Given the description of an element on the screen output the (x, y) to click on. 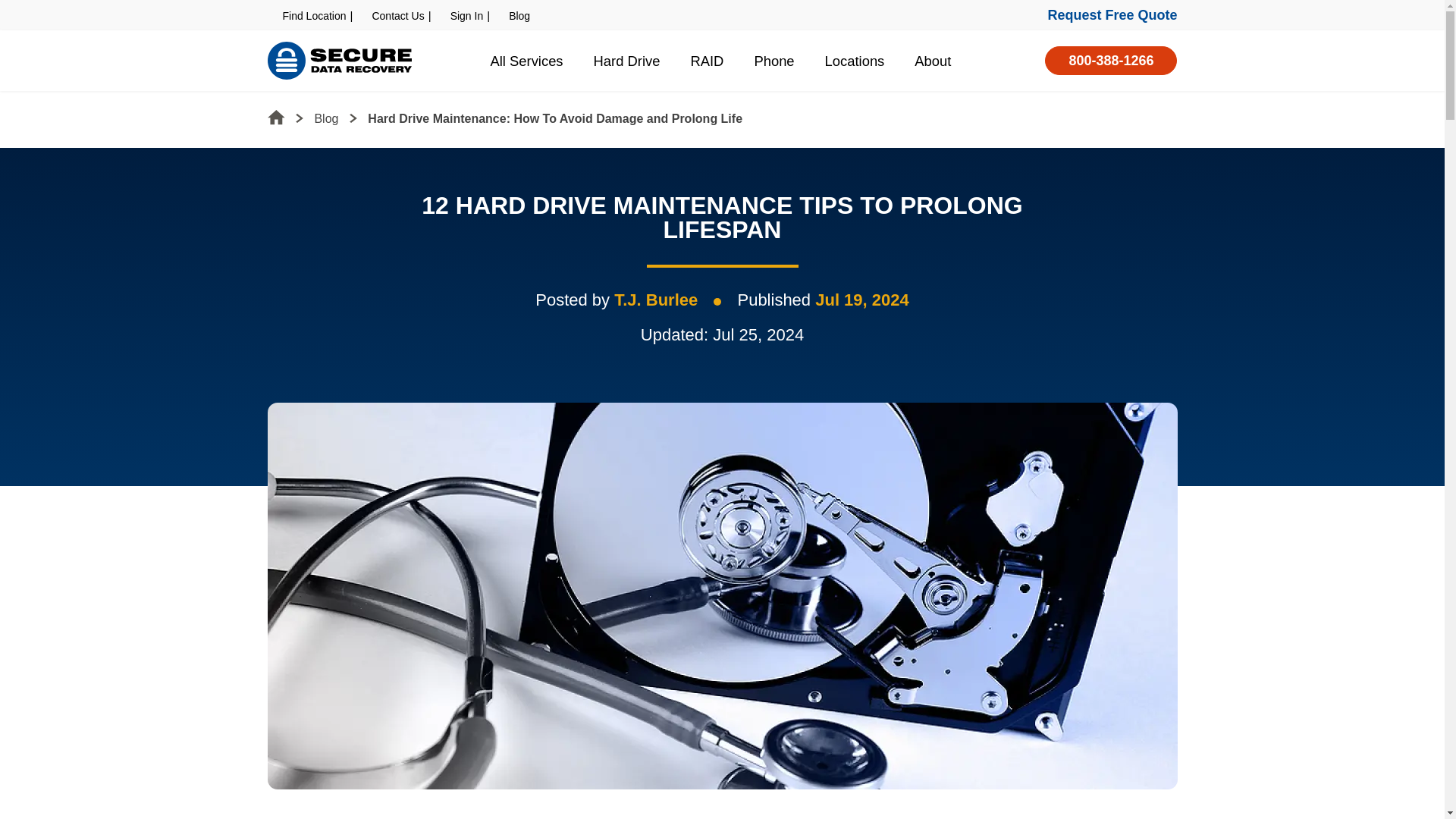
Request Free Quote (1111, 14)
Request Immediate Data Recovery Assistance (1111, 14)
All Services (526, 60)
Contact Us (397, 15)
RAID (706, 60)
Find Location (314, 15)
Find a Nearby Location (314, 15)
Sign In (466, 15)
Phone (773, 60)
Blog (518, 15)
